Given the description of an element on the screen output the (x, y) to click on. 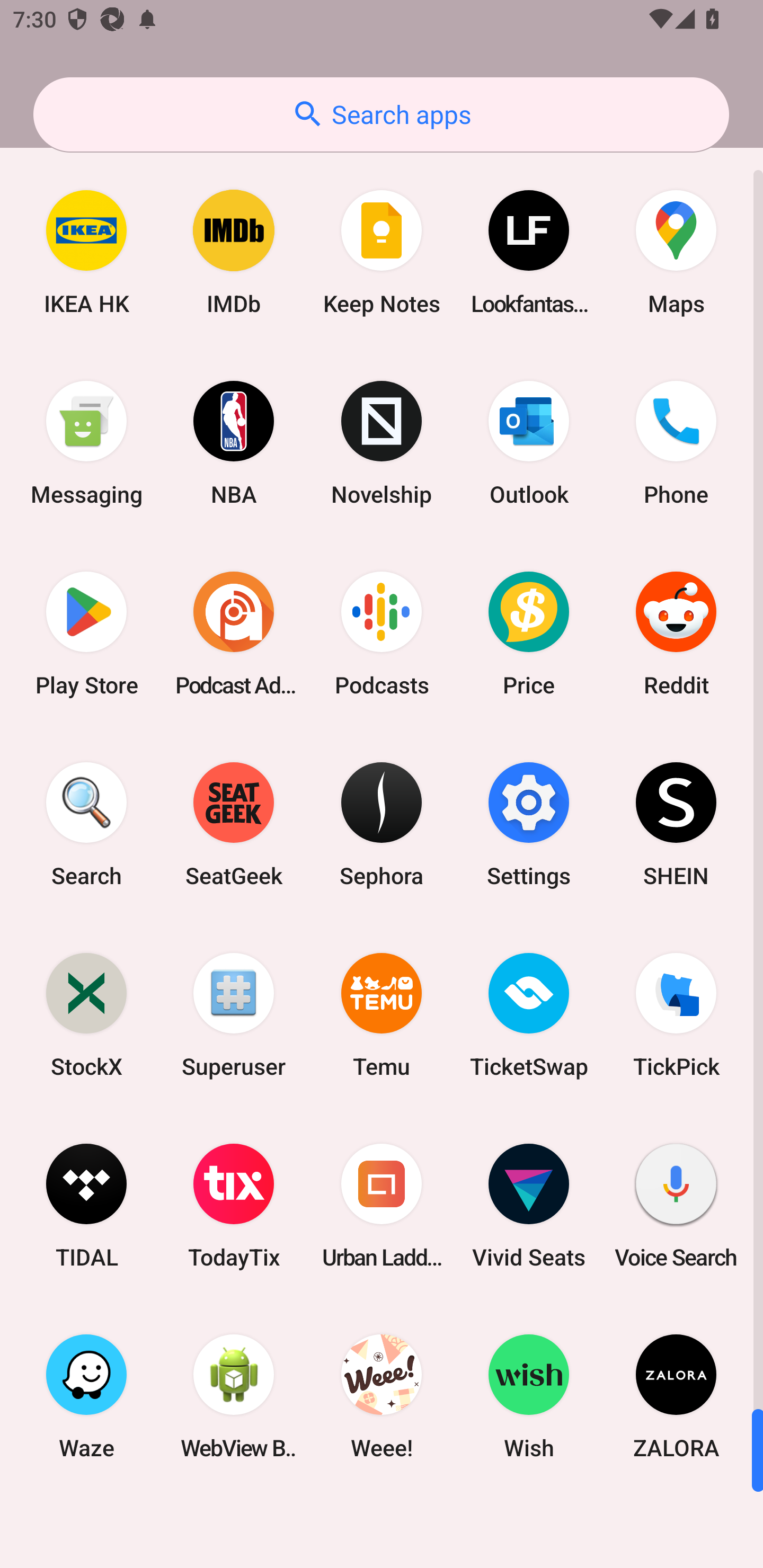
  Search apps (381, 114)
IKEA HK (86, 252)
IMDb (233, 252)
Keep Notes (381, 252)
Lookfantastic (528, 252)
Maps (676, 252)
Messaging (86, 442)
NBA (233, 442)
Novelship (381, 442)
Outlook (528, 442)
Phone (676, 442)
Play Store (86, 633)
Podcast Addict (233, 633)
Podcasts (381, 633)
Price (528, 633)
Reddit (676, 633)
Search (86, 823)
SeatGeek (233, 823)
Sephora (381, 823)
Settings (528, 823)
SHEIN (676, 823)
StockX (86, 1014)
Superuser (233, 1014)
Temu (381, 1014)
TicketSwap (528, 1014)
TickPick (676, 1014)
TIDAL (86, 1205)
TodayTix (233, 1205)
Urban Ladder (381, 1205)
Vivid Seats (528, 1205)
Voice Search (676, 1205)
Waze (86, 1396)
WebView Browser Tester (233, 1396)
Weee! (381, 1396)
Wish (528, 1396)
ZALORA (676, 1396)
